Given the description of an element on the screen output the (x, y) to click on. 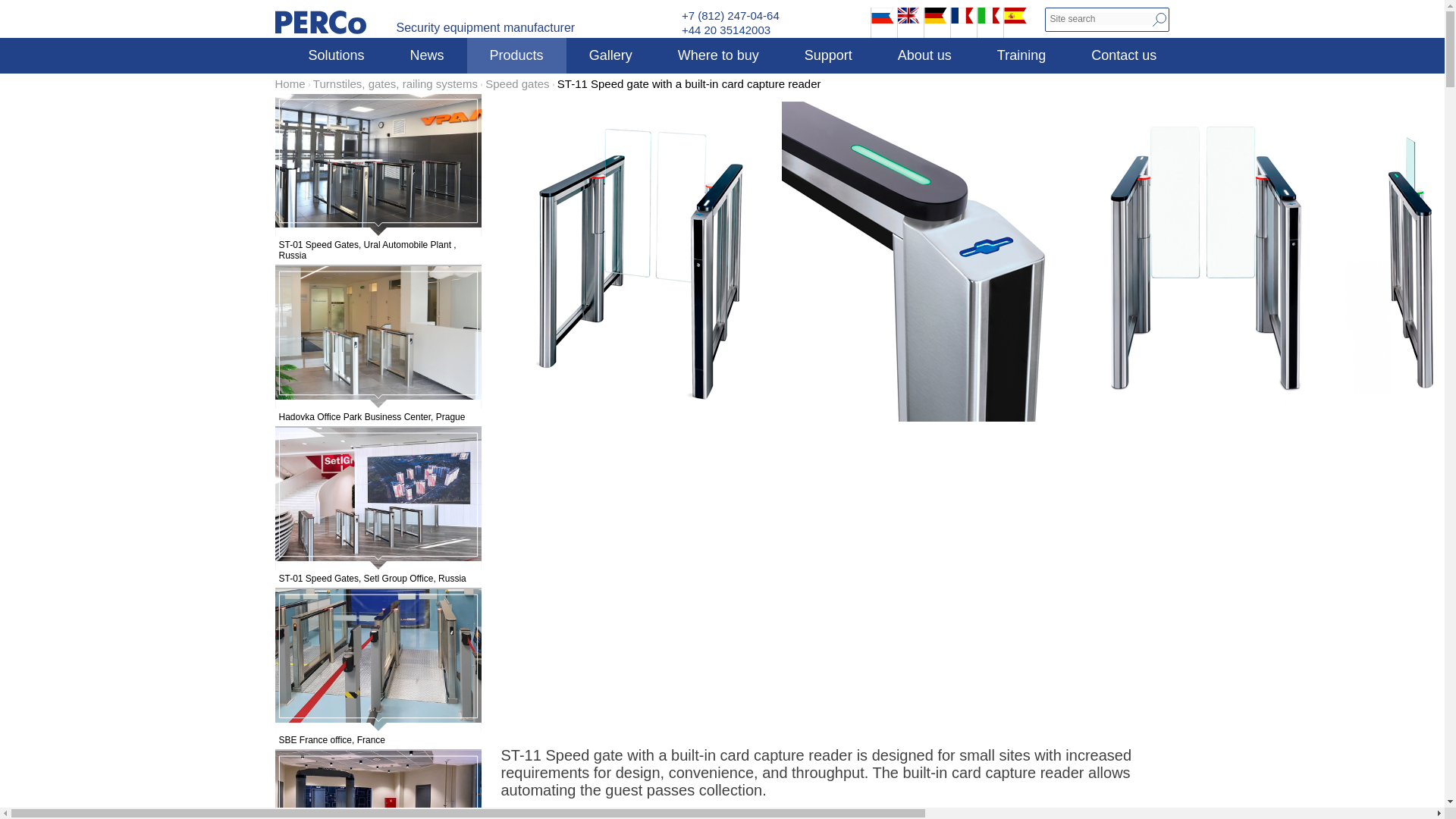
Solutions (336, 55)
Speed gates (516, 83)
Home (289, 83)
Products (516, 55)
About us (924, 55)
Where to buy (718, 55)
Support (828, 55)
Gallery (610, 55)
Turnstiles, gates, railing systems (395, 83)
News (427, 55)
